Given the description of an element on the screen output the (x, y) to click on. 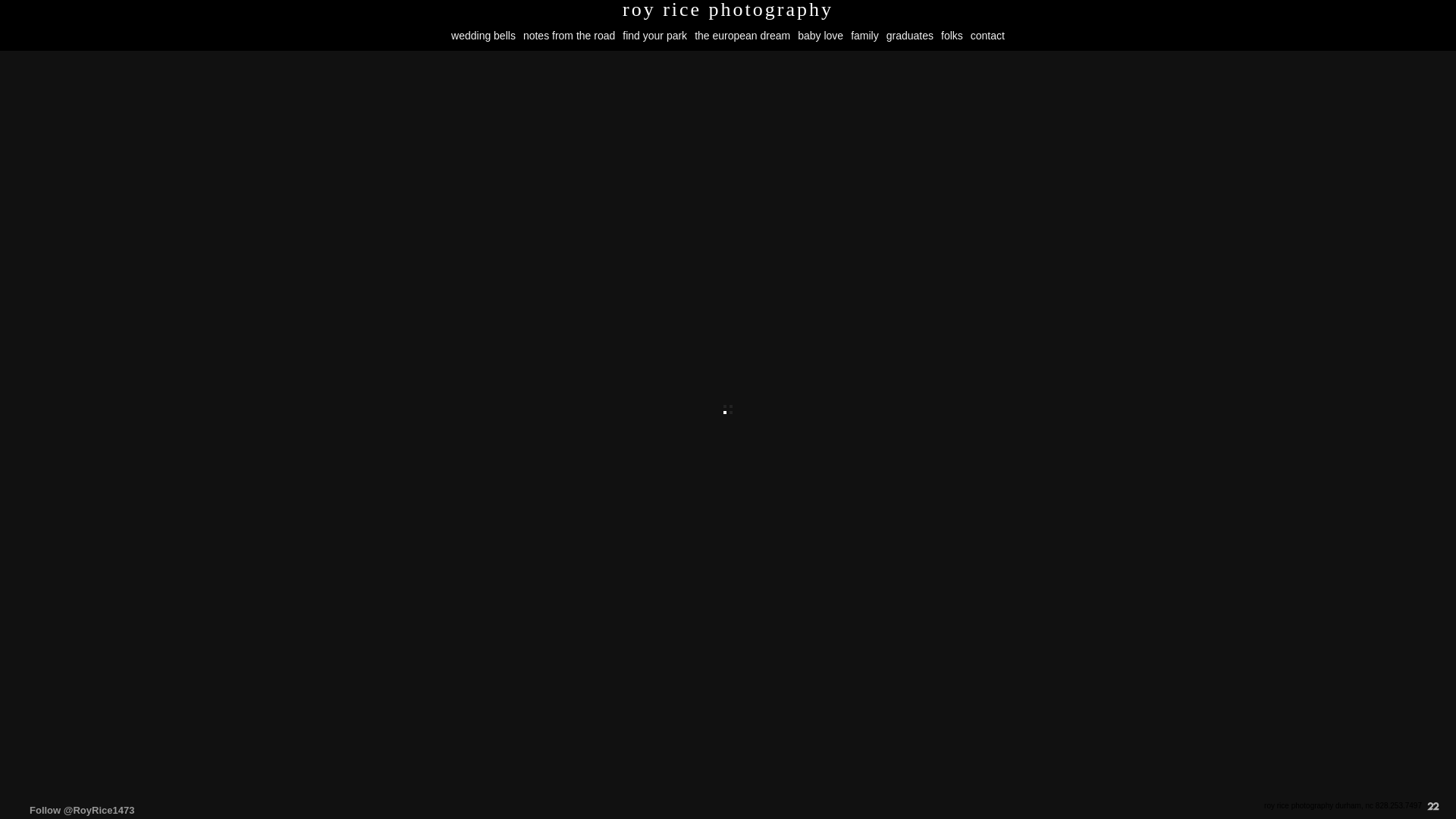
roy rice photography Element type: text (727, 9)
Follow @RoyRice1473 Element type: text (81, 809)
